Given the description of an element on the screen output the (x, y) to click on. 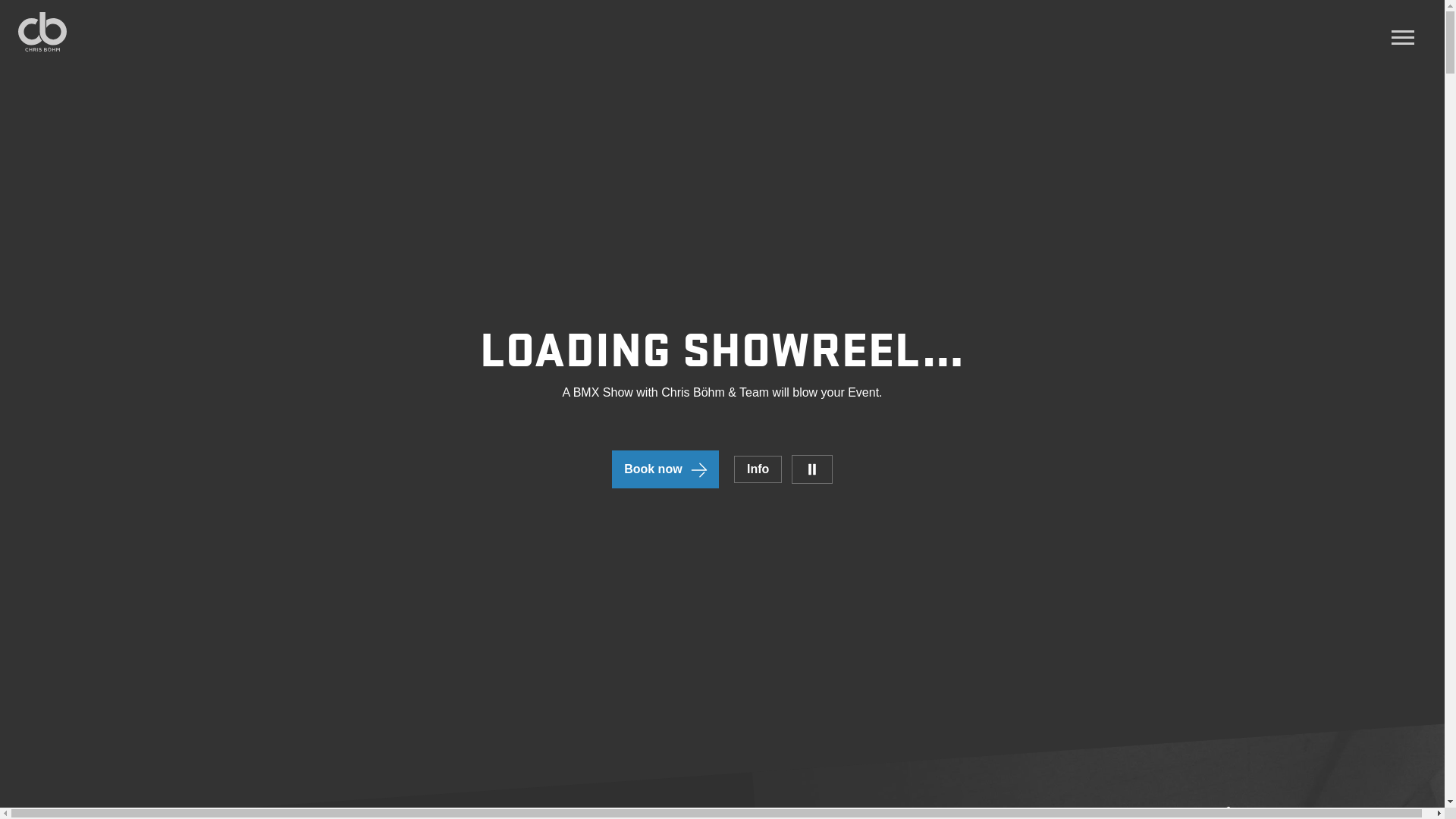
Info Element type: text (757, 469)
Book now Element type: text (664, 469)
